Given the description of an element on the screen output the (x, y) to click on. 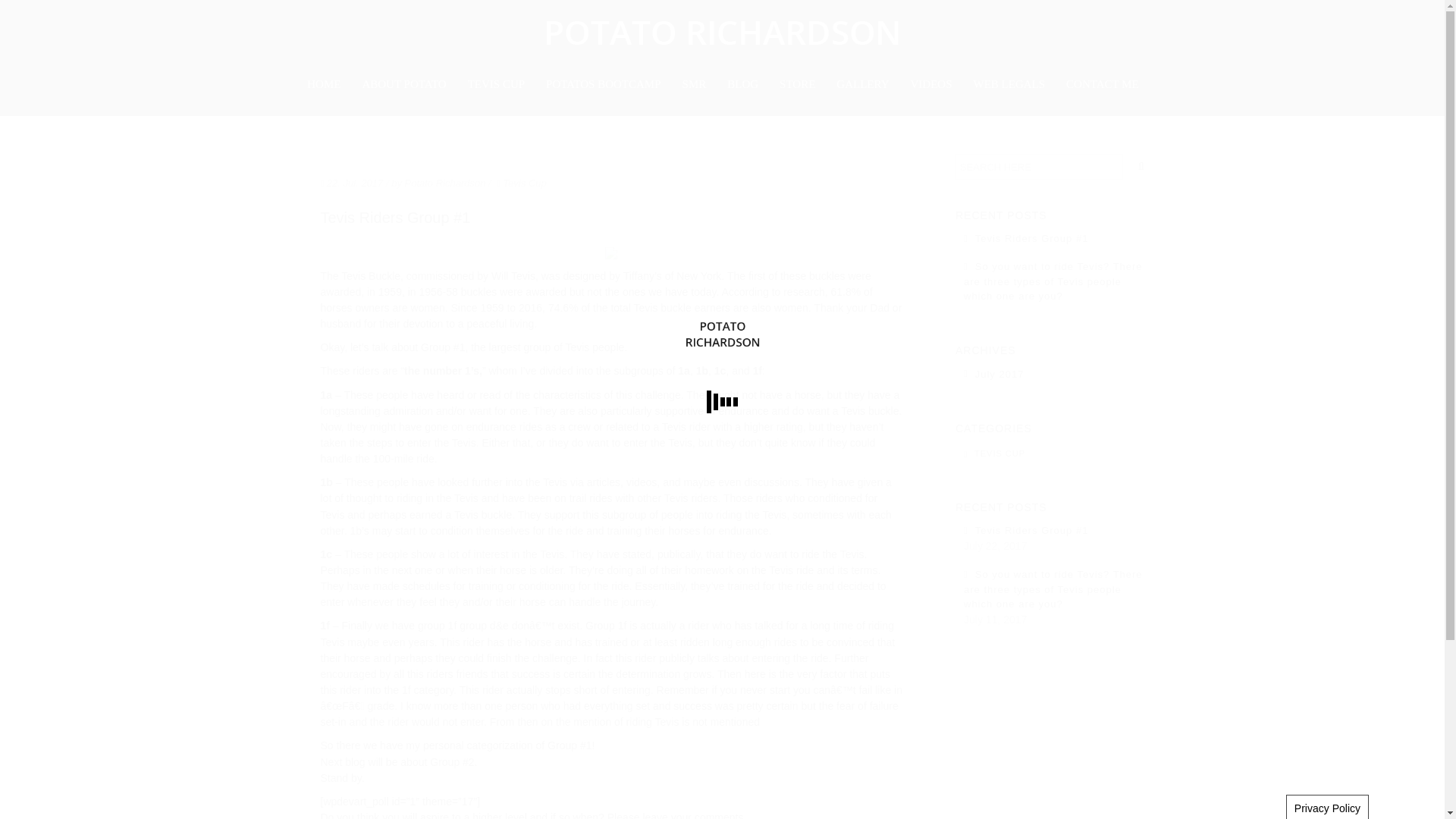
Web Legals (1009, 84)
Tevis Cup (496, 84)
Potatos Bootcamp (603, 84)
CONTACT ME (1102, 84)
VIDEOS (930, 84)
Potato Richardson (445, 185)
TEVIS CUP (496, 84)
GALLERY (862, 84)
Gallery (862, 84)
TEVIS CUP (999, 452)
